Given the description of an element on the screen output the (x, y) to click on. 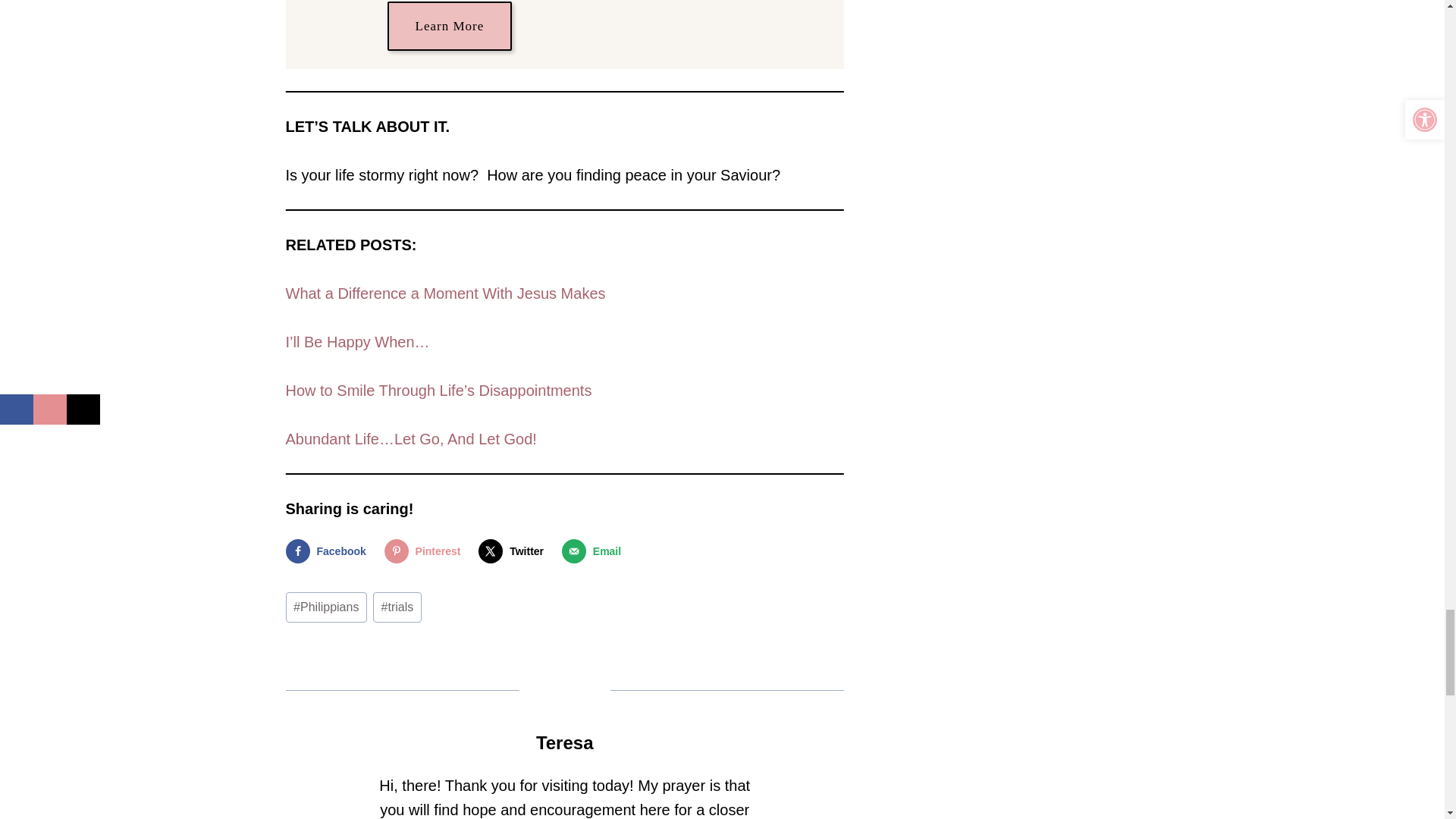
Email (594, 550)
Send over email (594, 550)
Share on X (514, 550)
Save to Pinterest (425, 550)
Twitter (514, 550)
What a Difference a Moment With Jesus Makes (445, 293)
Learn More (449, 25)
Philippians (325, 607)
Facebook (328, 550)
Share on Facebook (328, 550)
